Given the description of an element on the screen output the (x, y) to click on. 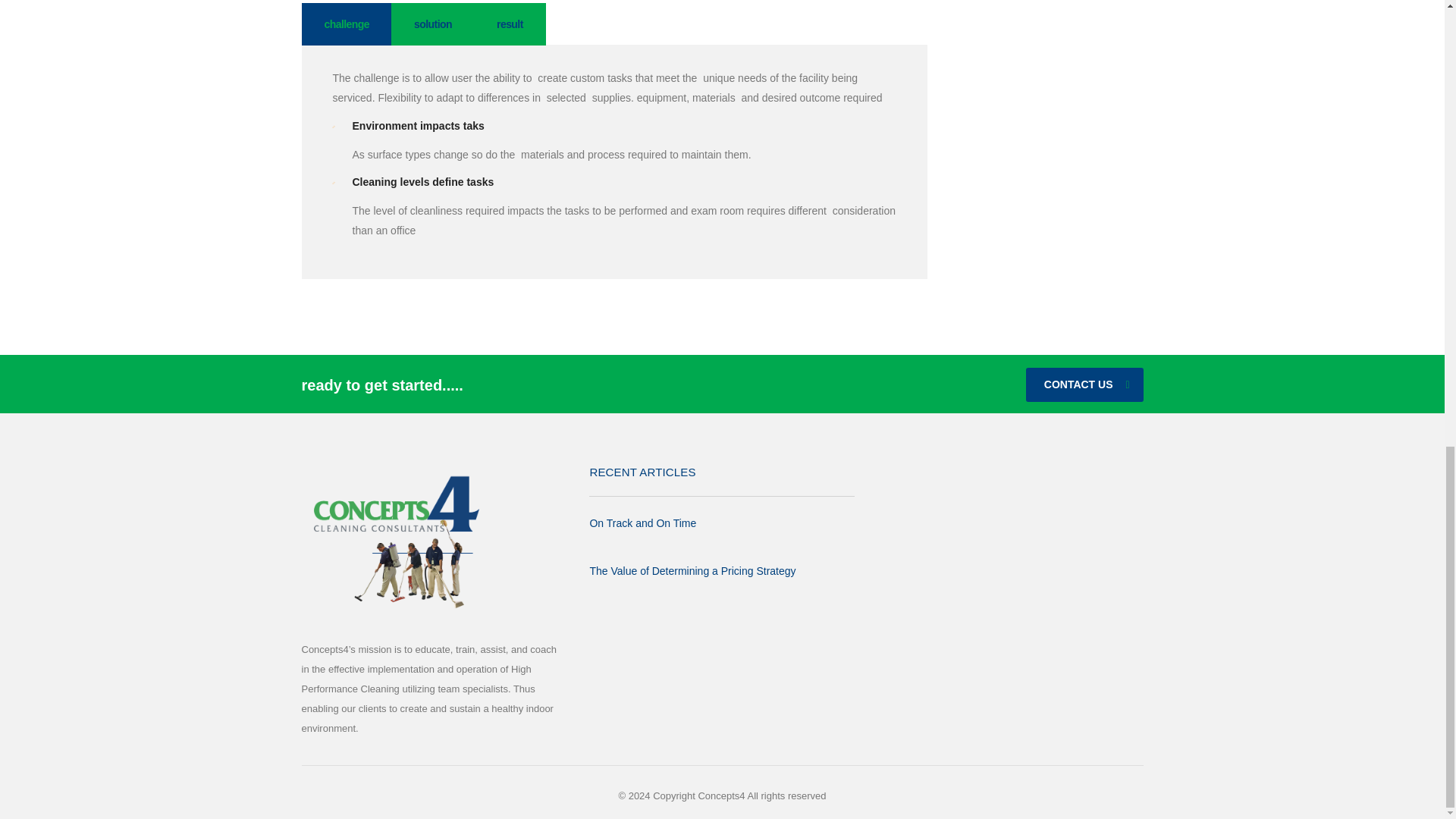
CONTACT US (1084, 384)
The Value of Determining a Pricing Strategy (691, 570)
challenge (347, 24)
solution (432, 24)
contact us (1084, 384)
On Track and On Time (642, 522)
result (510, 24)
